Given the description of an element on the screen output the (x, y) to click on. 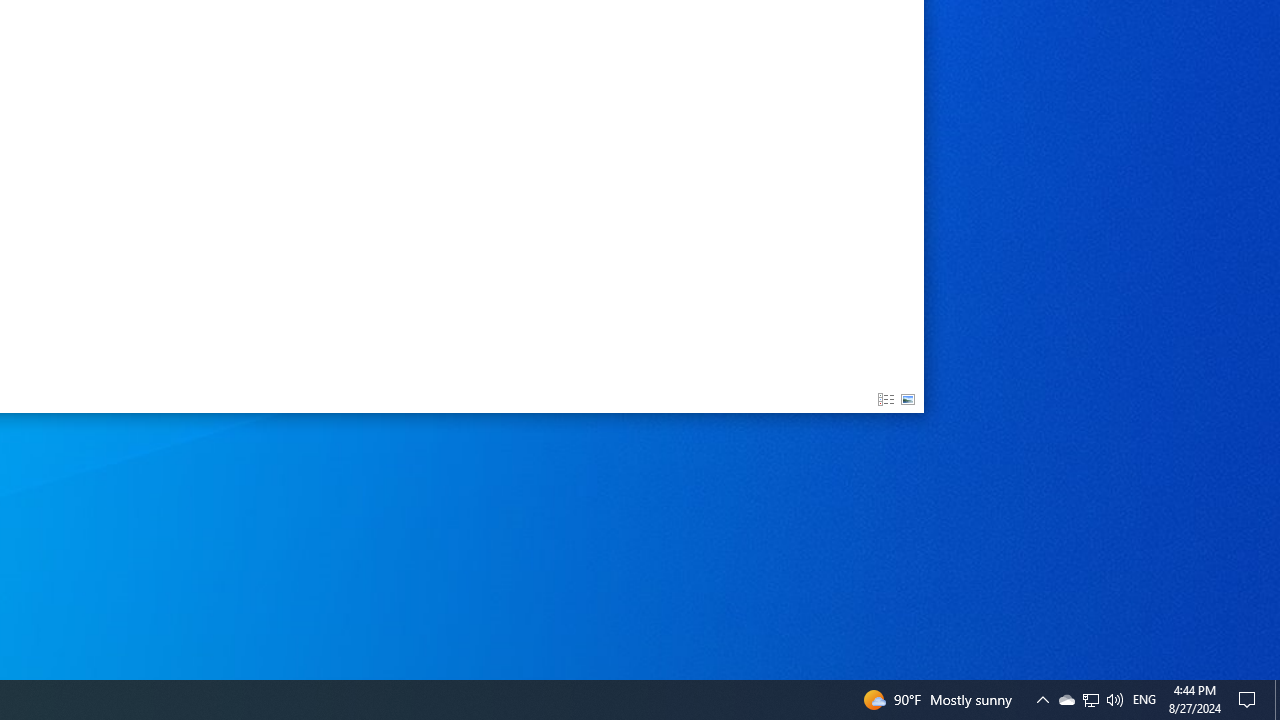
Details (886, 399)
Large Icons (908, 399)
